Given the description of an element on the screen output the (x, y) to click on. 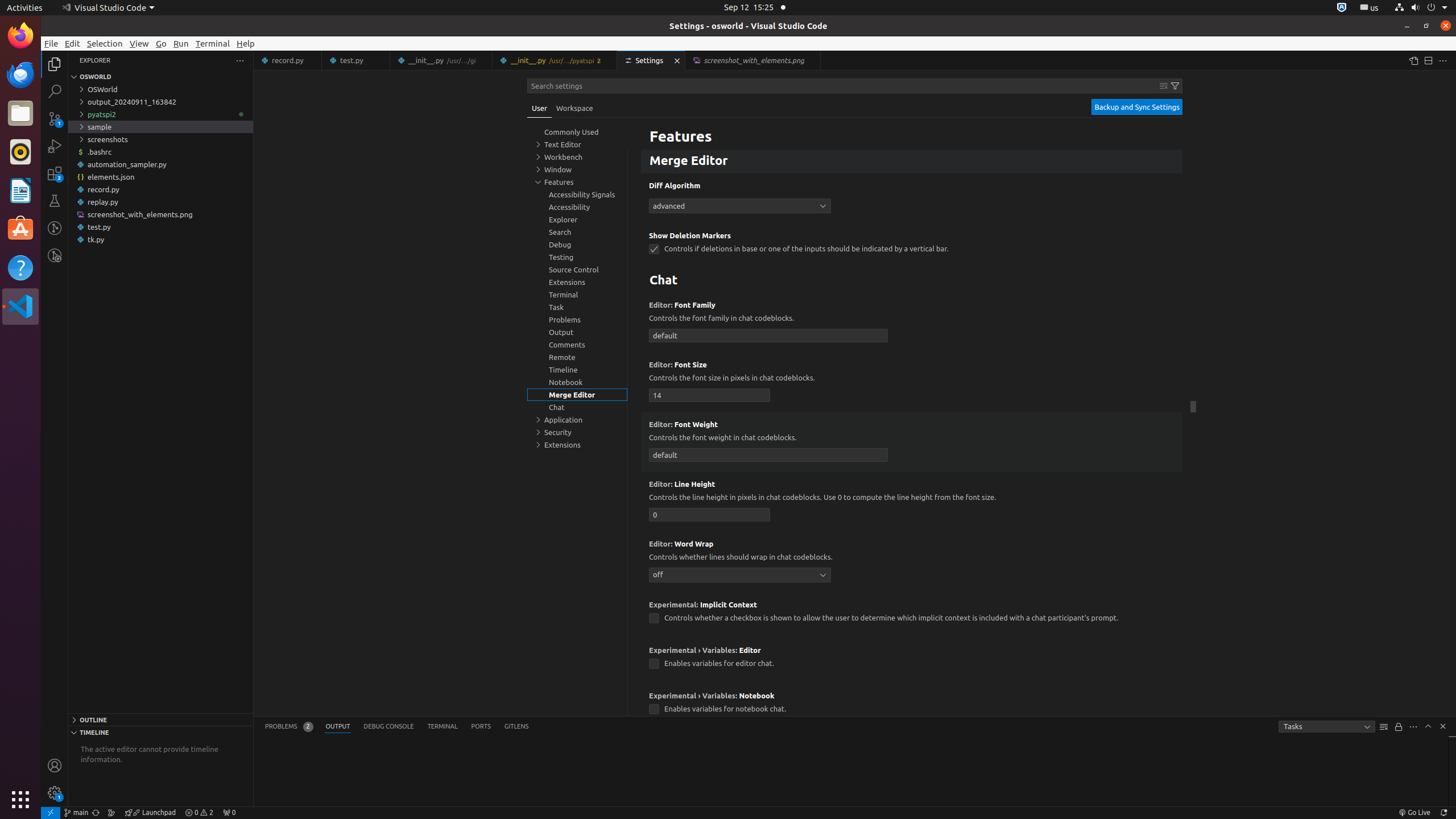
View Element type: push-button (139, 43)
Tasks Element type: menu-item (1326, 726)
Editor Line Height. Controls the line height in pixels in chat codeblocks. Use 0 to compute the line height from the font size.  Element type: tree-item (911, 501)
